Given the description of an element on the screen output the (x, y) to click on. 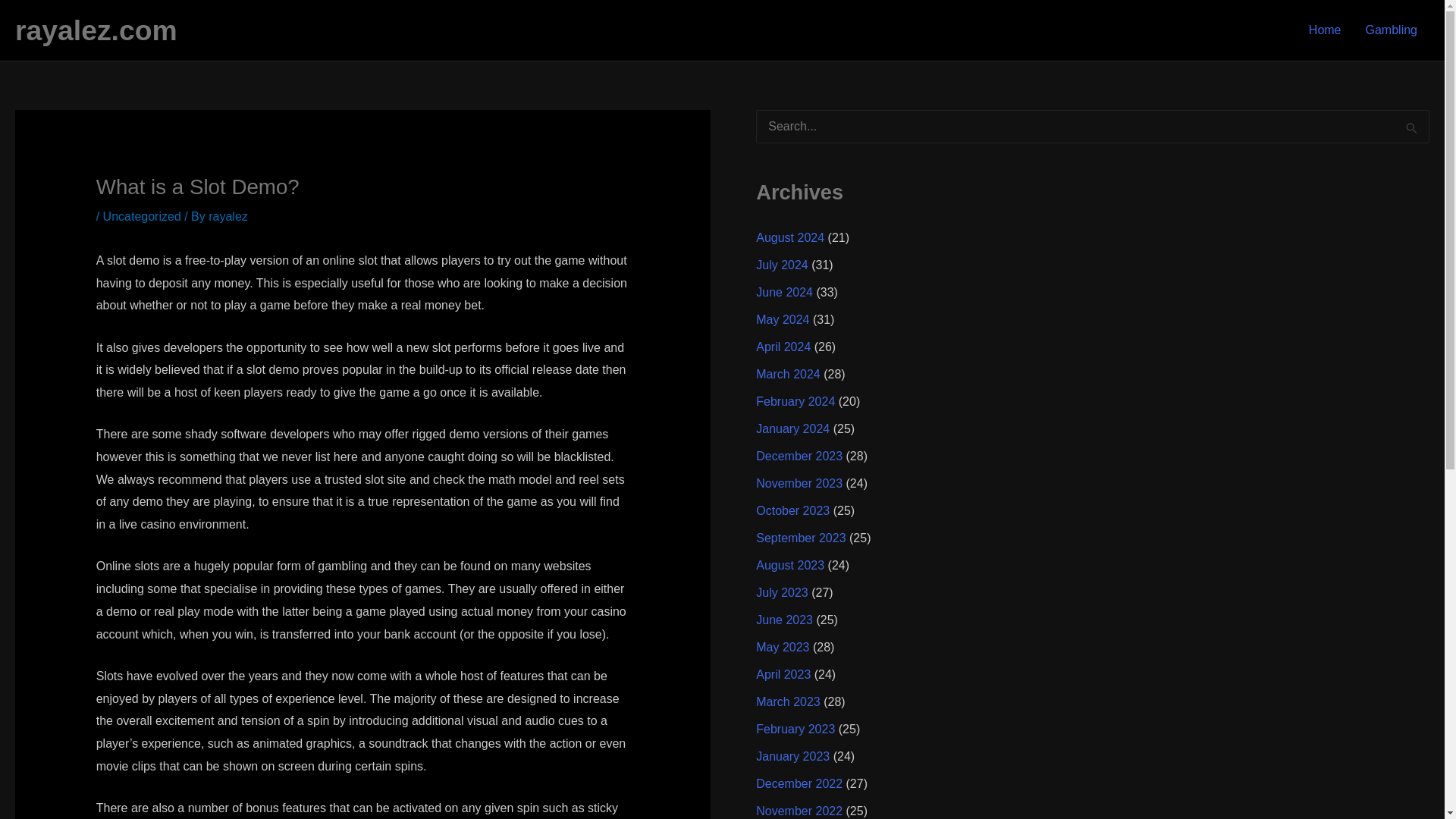
March 2023 (788, 701)
rayalez (227, 215)
January 2023 (792, 756)
June 2023 (783, 619)
December 2022 (799, 783)
December 2023 (799, 455)
October 2023 (792, 510)
August 2023 (789, 564)
May 2023 (782, 646)
Home (1325, 30)
